Given the description of an element on the screen output the (x, y) to click on. 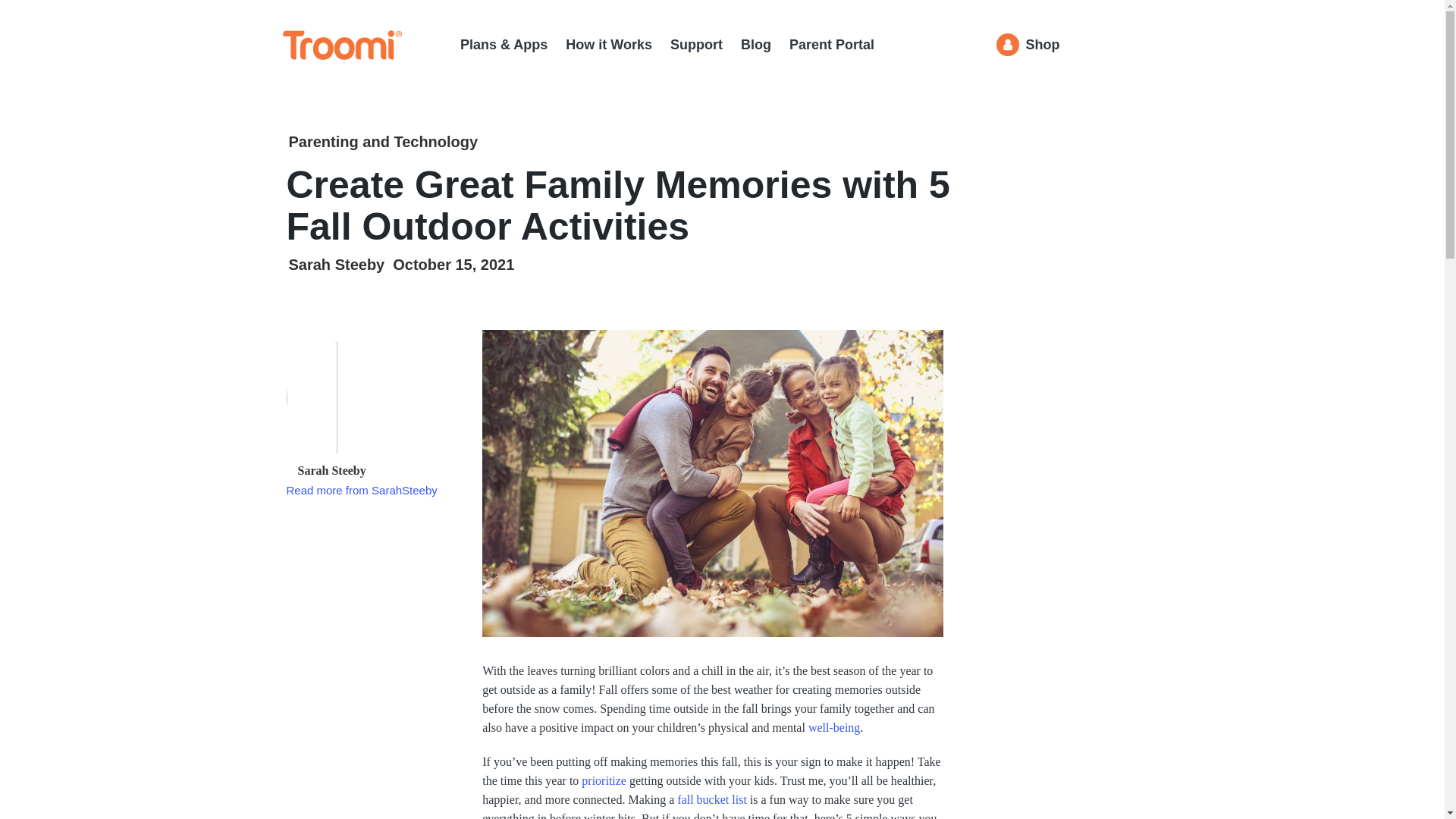
well-being (834, 727)
Parenting and Technology (382, 141)
fall bucket list (711, 799)
Parent Portal (832, 44)
Read more from SarahSteeby (362, 490)
prioritize (603, 780)
How it Works (609, 44)
View all posts by Sarah Steeby (336, 264)
Support (695, 44)
Sarah Steeby (336, 264)
